Given the description of an element on the screen output the (x, y) to click on. 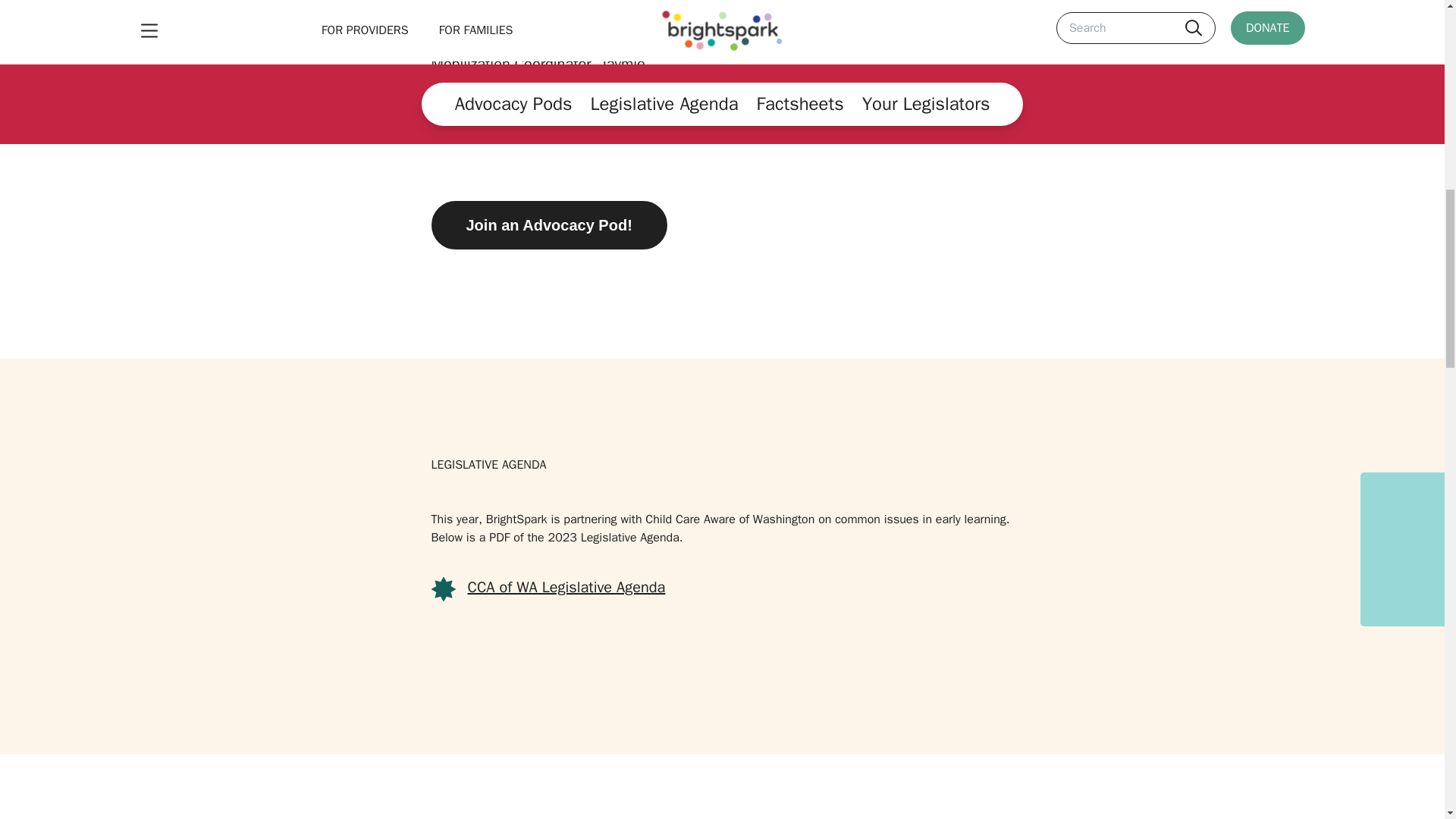
YouTube video player (879, 67)
